Given the description of an element on the screen output the (x, y) to click on. 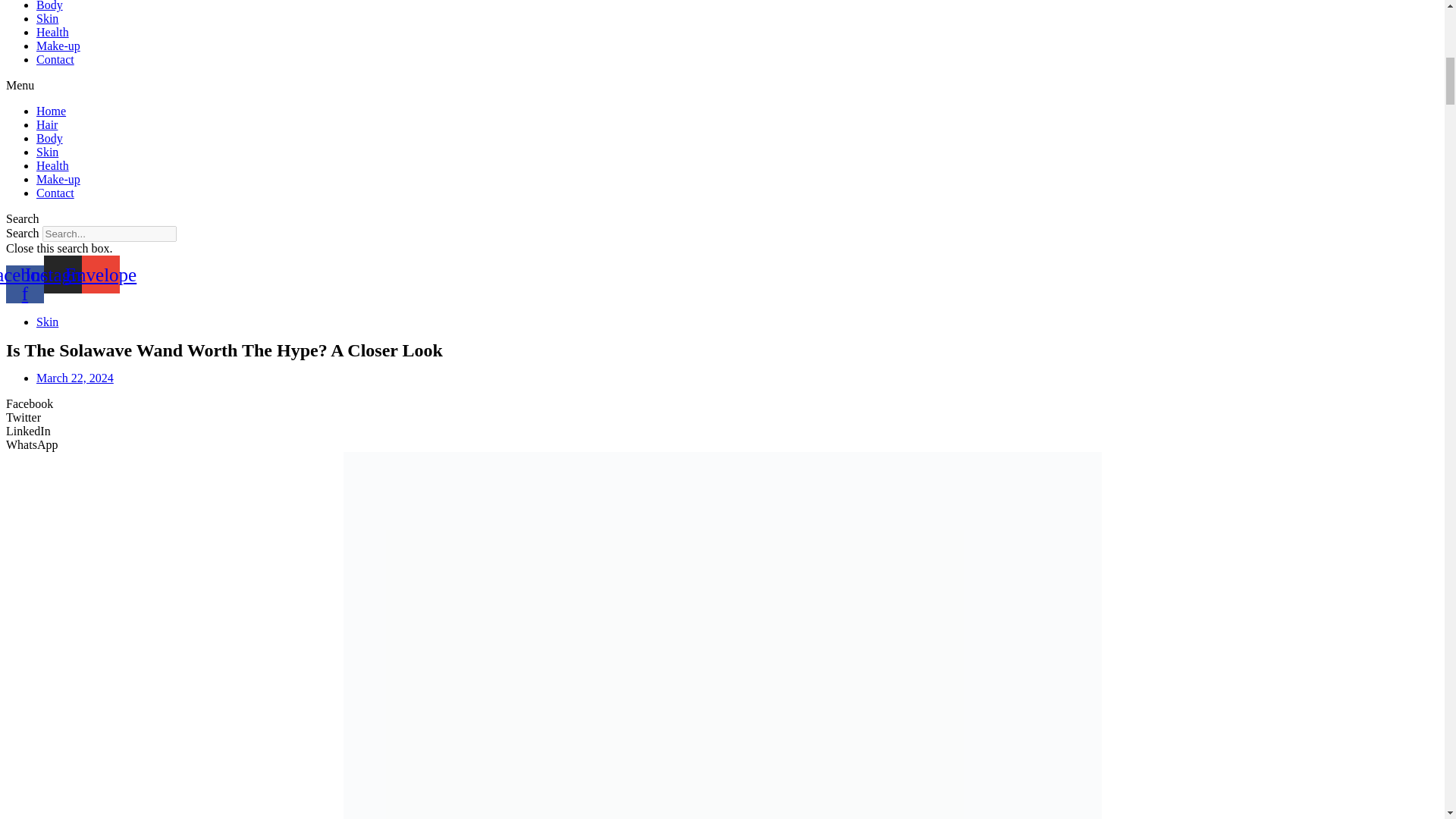
Home (50, 110)
Make-up (58, 45)
Facebook-f (24, 284)
Health (52, 31)
Skin (47, 321)
Body (49, 137)
Hair (47, 124)
Envelope (100, 274)
Contact (55, 59)
